Given the description of an element on the screen output the (x, y) to click on. 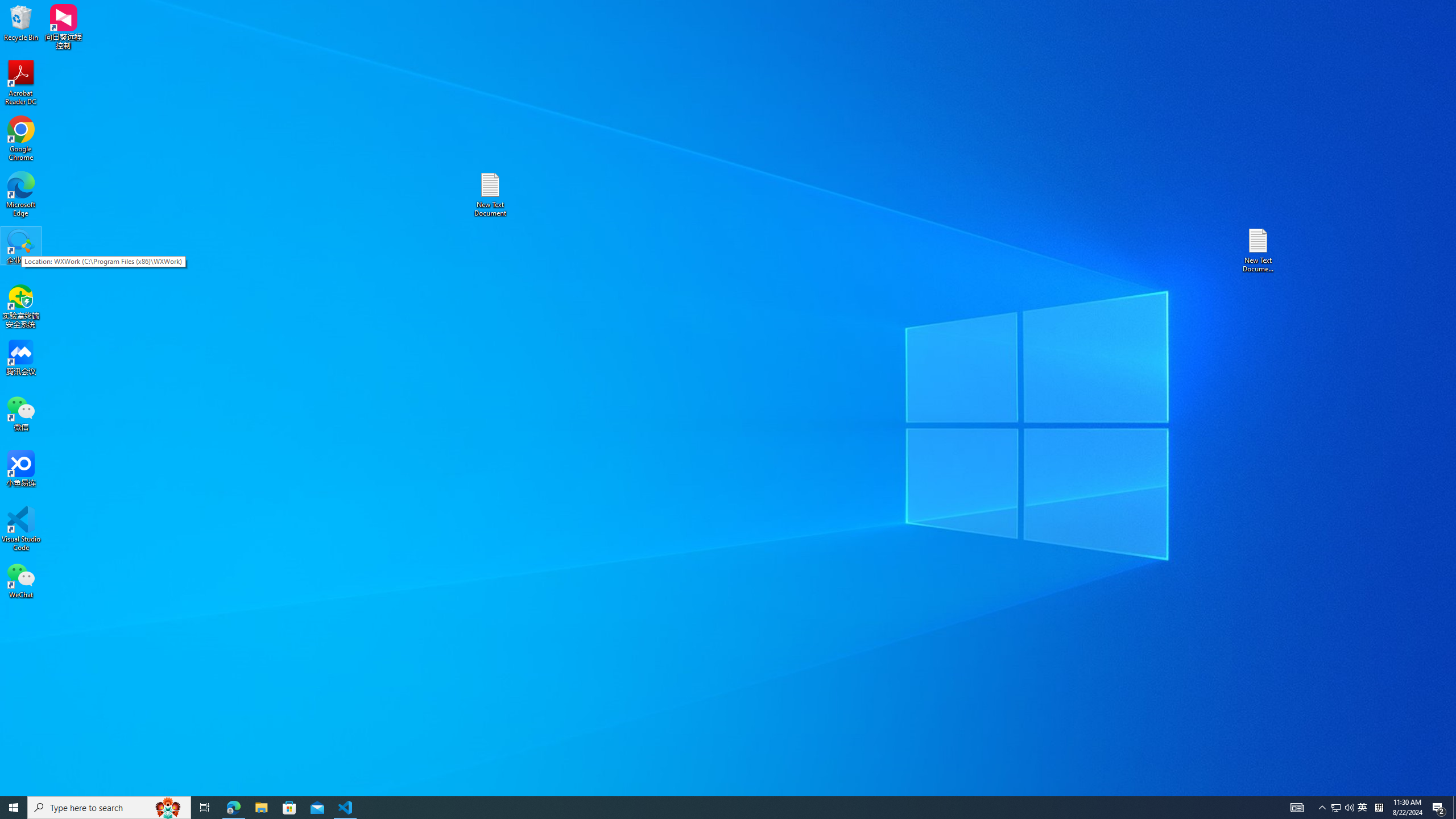
Visual Studio Code - 1 running window (345, 807)
AutomationID: 4105 (1362, 807)
